Given the description of an element on the screen output the (x, y) to click on. 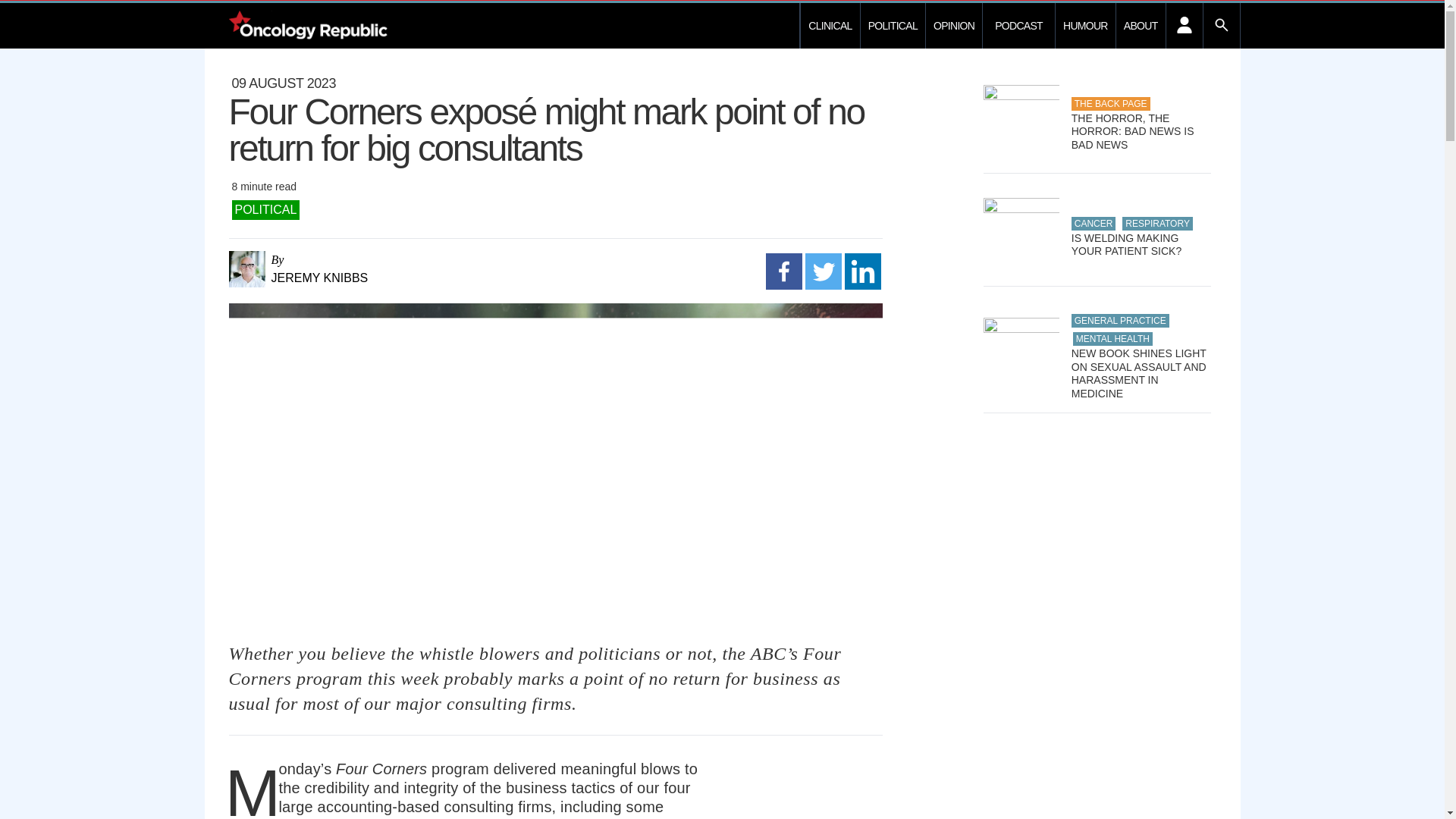
Twitter (823, 271)
THE BACK PAGE (1110, 103)
Linkedin (862, 271)
Facebook (783, 271)
POLITICAL (892, 25)
CLINICAL (829, 25)
JEREMY KNIBBS (392, 278)
POLITICAL (265, 209)
HUMOUR (1085, 25)
PODCAST (1018, 25)
ABOUT (1140, 25)
OPINION (953, 25)
